Given the description of an element on the screen output the (x, y) to click on. 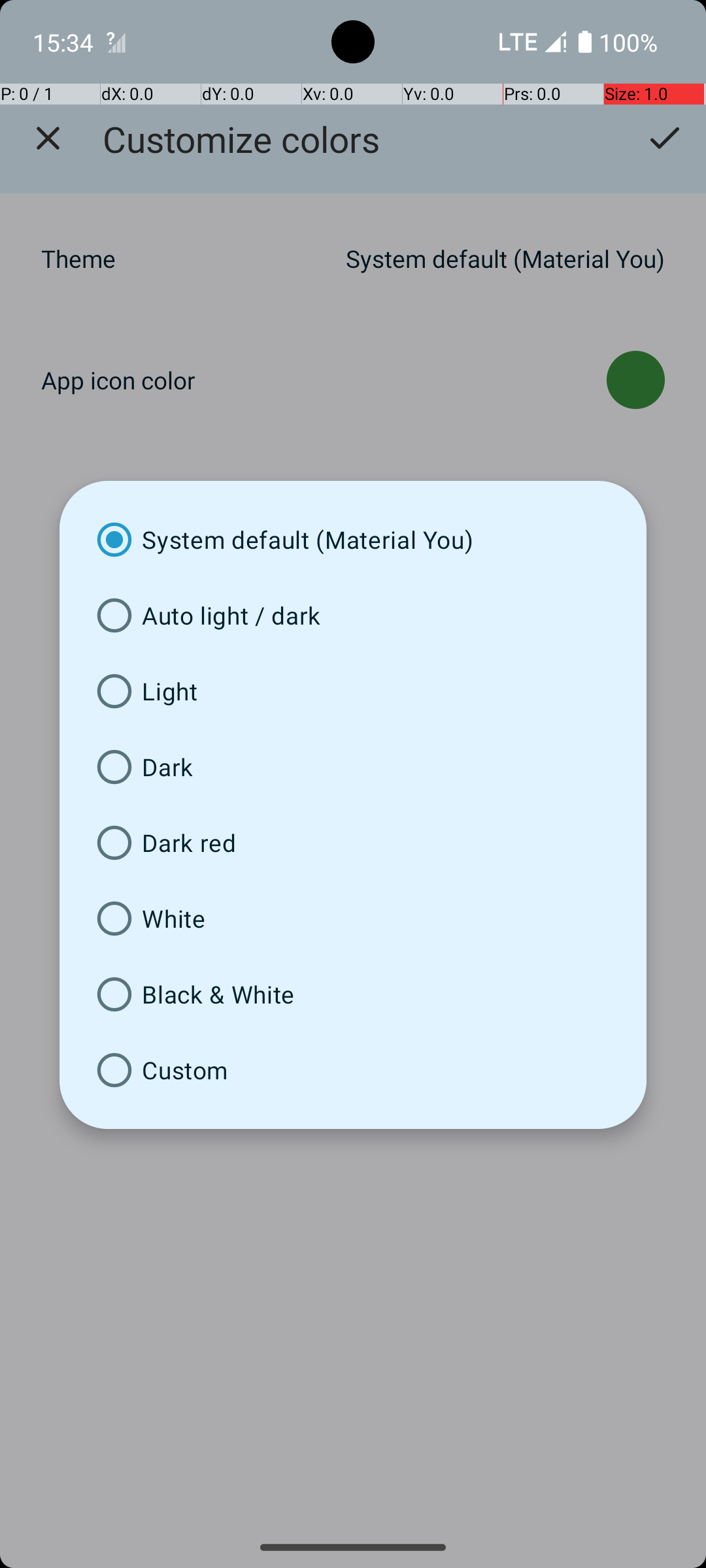
System default (Material You) Element type: android.widget.RadioButton (352, 539)
Auto light / dark Element type: android.widget.RadioButton (352, 615)
Light Element type: android.widget.RadioButton (352, 691)
Dark Element type: android.widget.RadioButton (352, 766)
Dark red Element type: android.widget.RadioButton (352, 842)
White Element type: android.widget.RadioButton (352, 918)
Black & White Element type: android.widget.RadioButton (352, 994)
